Given the description of an element on the screen output the (x, y) to click on. 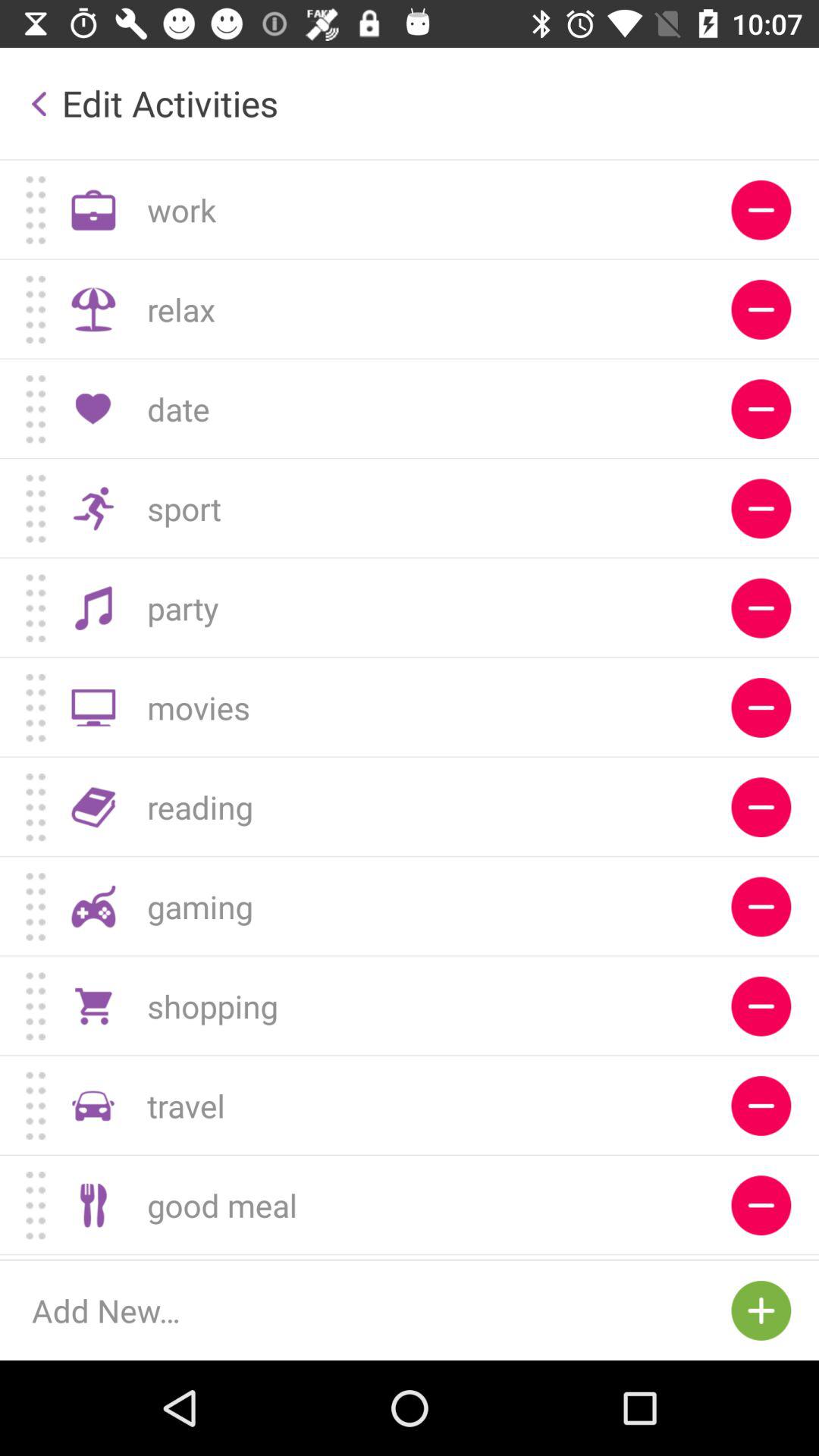
remove activity (761, 309)
